Given the description of an element on the screen output the (x, y) to click on. 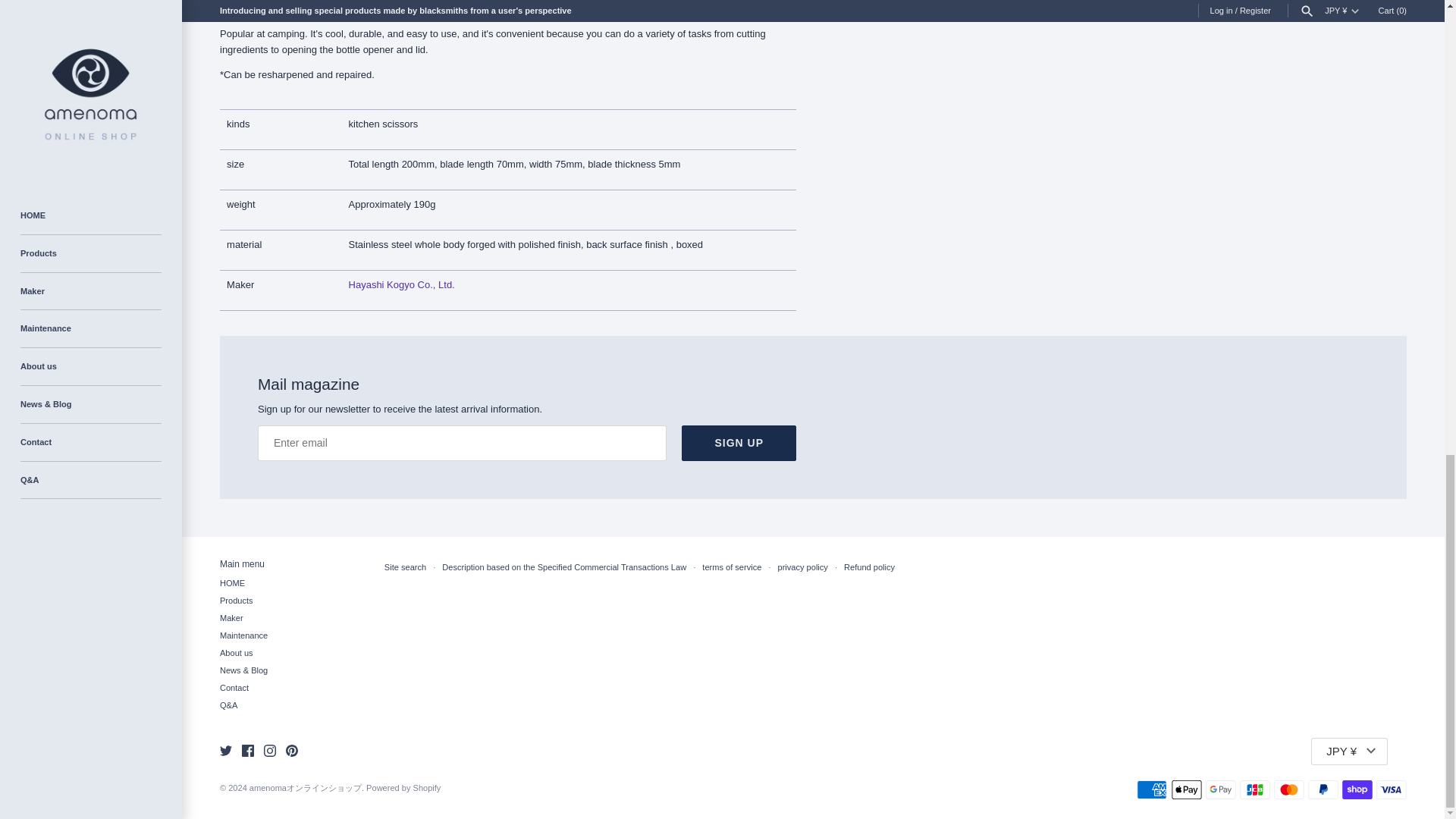
Pinterest (291, 750)
American Express (1152, 789)
Facebook (247, 750)
Twitter (225, 750)
Mastercard (1289, 789)
Visa (1390, 789)
Shop Pay (1357, 789)
JCB (1254, 789)
PayPal (1322, 789)
